Given the description of an element on the screen output the (x, y) to click on. 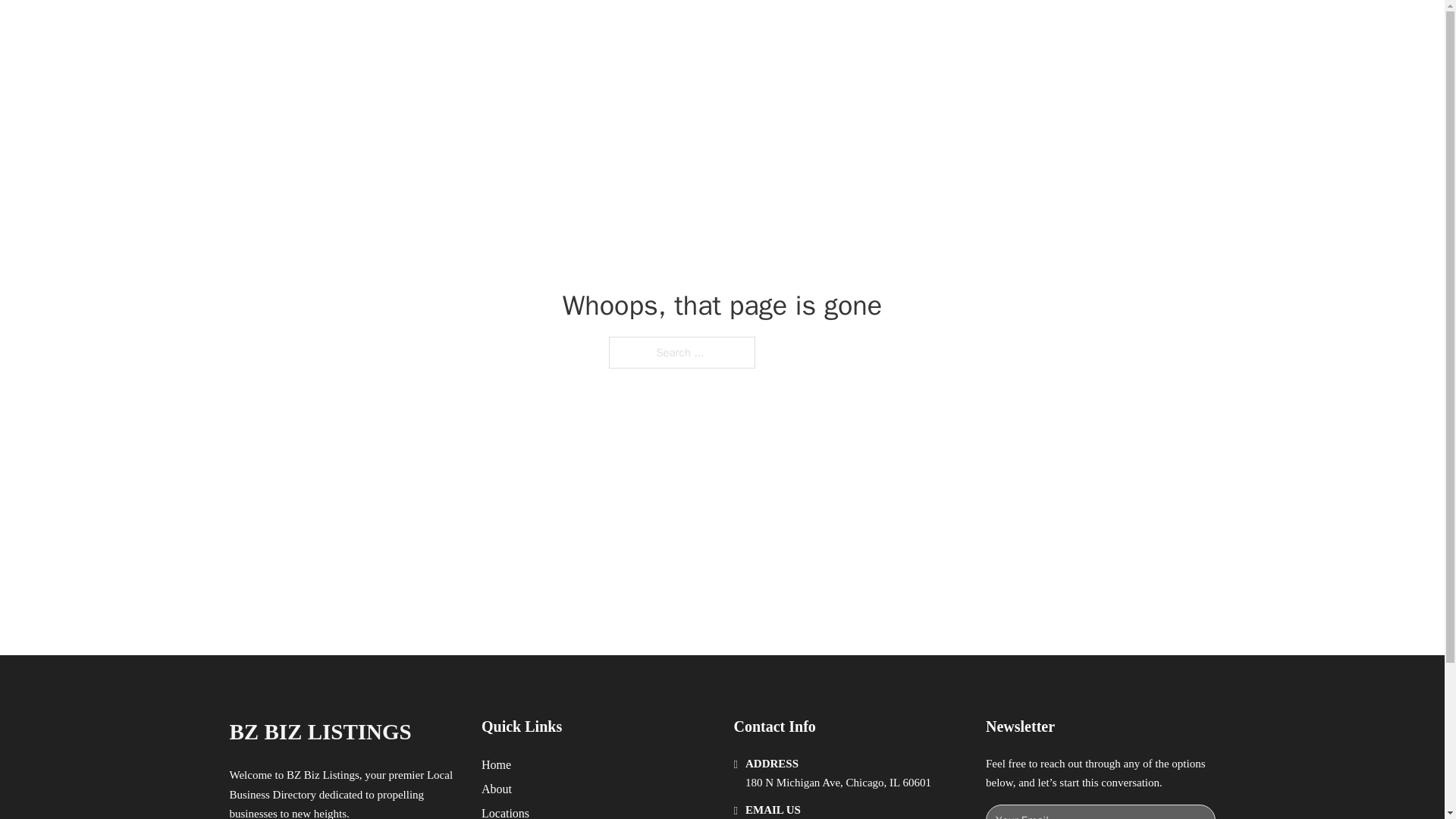
HOME (919, 29)
About (496, 788)
LOCATIONS (990, 29)
BZ BIZ LISTINGS (319, 732)
Home (496, 764)
Locations (505, 811)
BZ BIZ LISTINGS (394, 28)
